Given the description of an element on the screen output the (x, y) to click on. 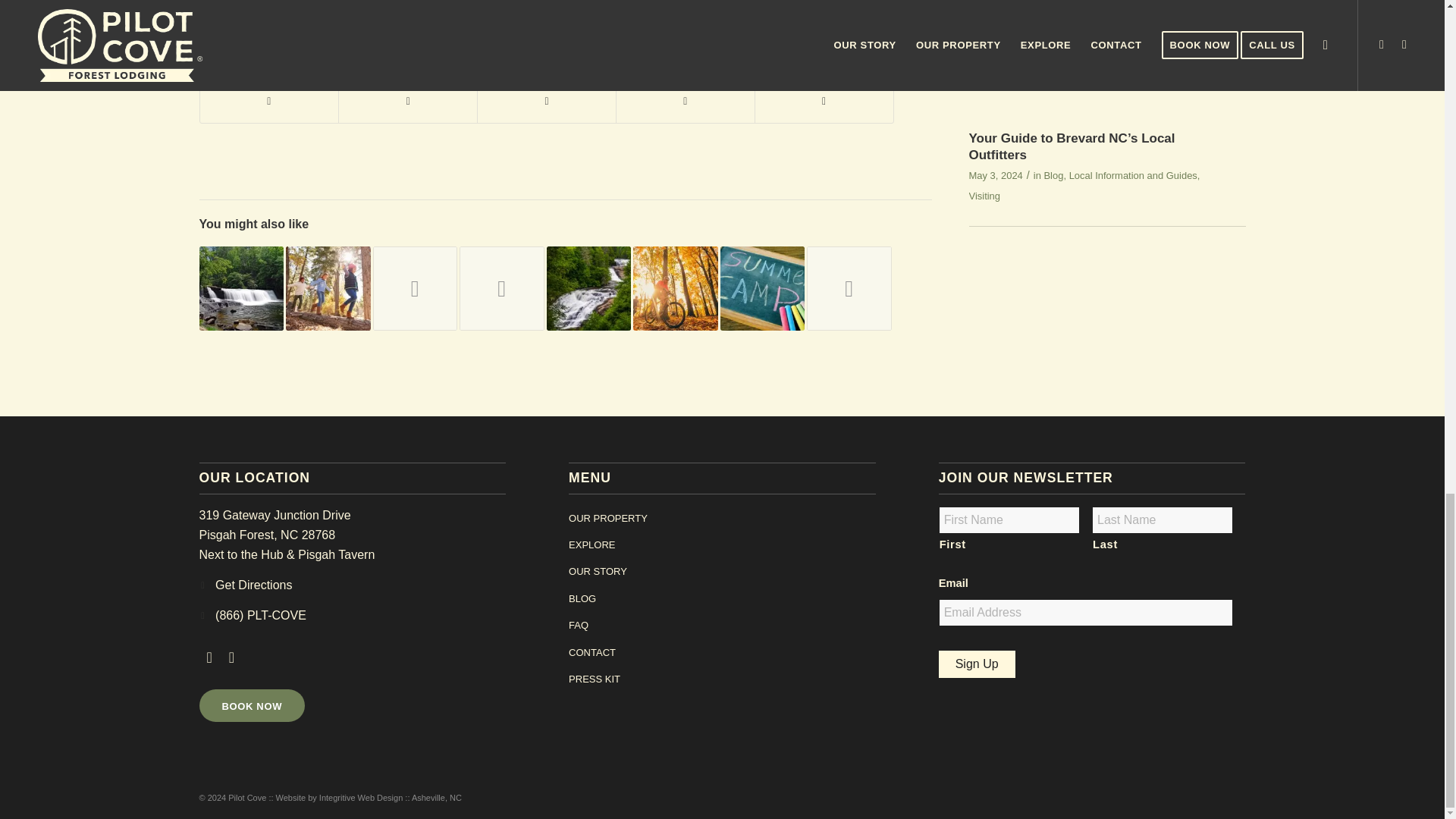
Brevard NC (258, 17)
Guide to Trails in DuPont State Forest (502, 288)
Sign Up (976, 664)
Mountain Biking (471, 17)
2021 Western North Carolina Summer Camp Guide (328, 288)
DuPont State Forest (342, 17)
Hardest Trails in Pisgah National Forest (415, 288)
Pisgah National Forest (627, 17)
Pilot Cove (541, 17)
hiking (411, 17)
Winter (704, 17)
